Given the description of an element on the screen output the (x, y) to click on. 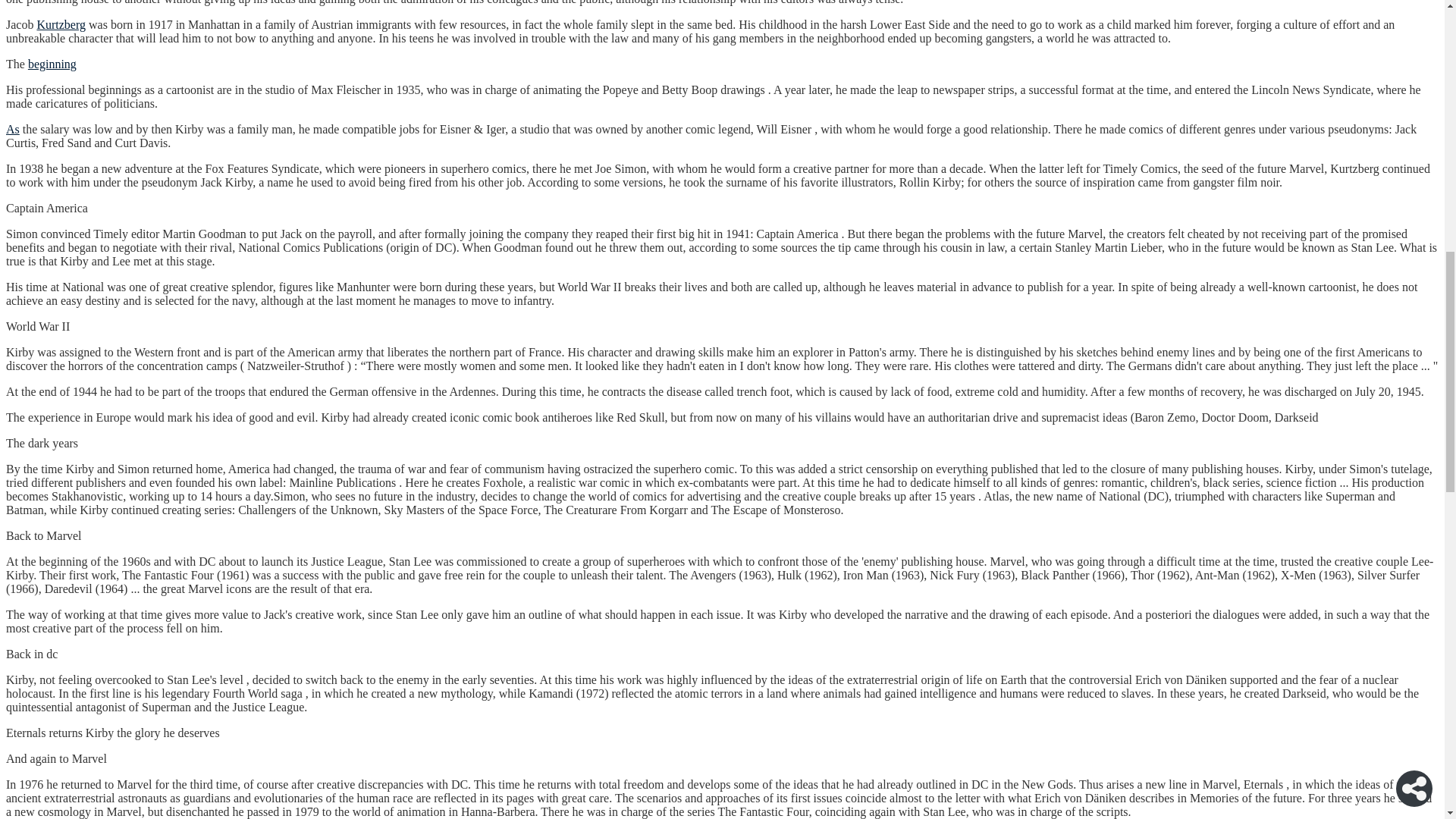
As (12, 128)
Kurtzberg (60, 24)
beginning (52, 63)
